Given the description of an element on the screen output the (x, y) to click on. 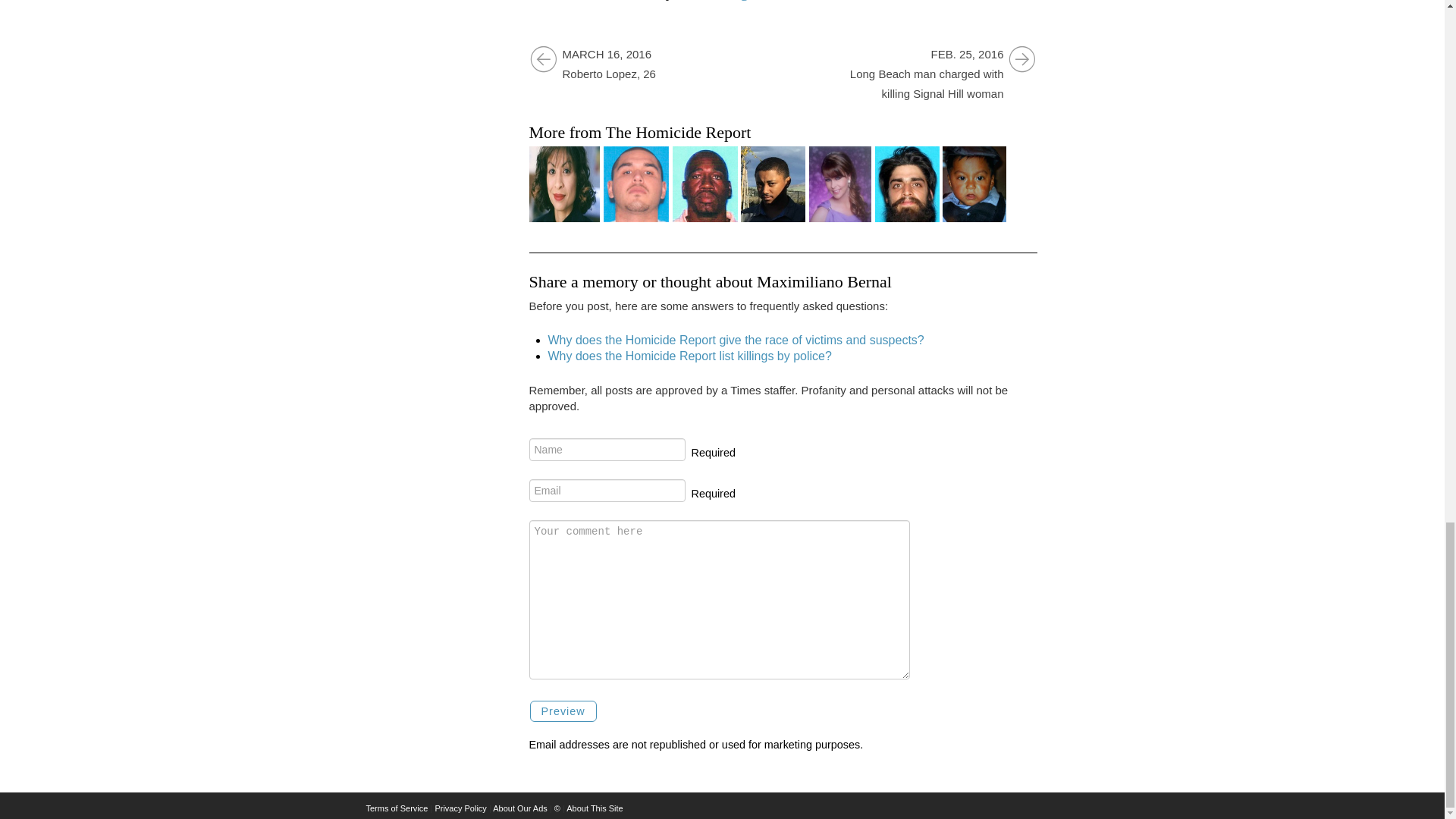
Privacy Policy (459, 808)
About Our Ads (520, 808)
Terms of Service (396, 808)
Preview (562, 711)
Vanessa Rosalia Marquez, 49 (564, 183)
About This Site (594, 808)
Why does the Homicide Report list killings by police? (689, 355)
Preview (562, 711)
Contact (631, 65)
